Given the description of an element on the screen output the (x, y) to click on. 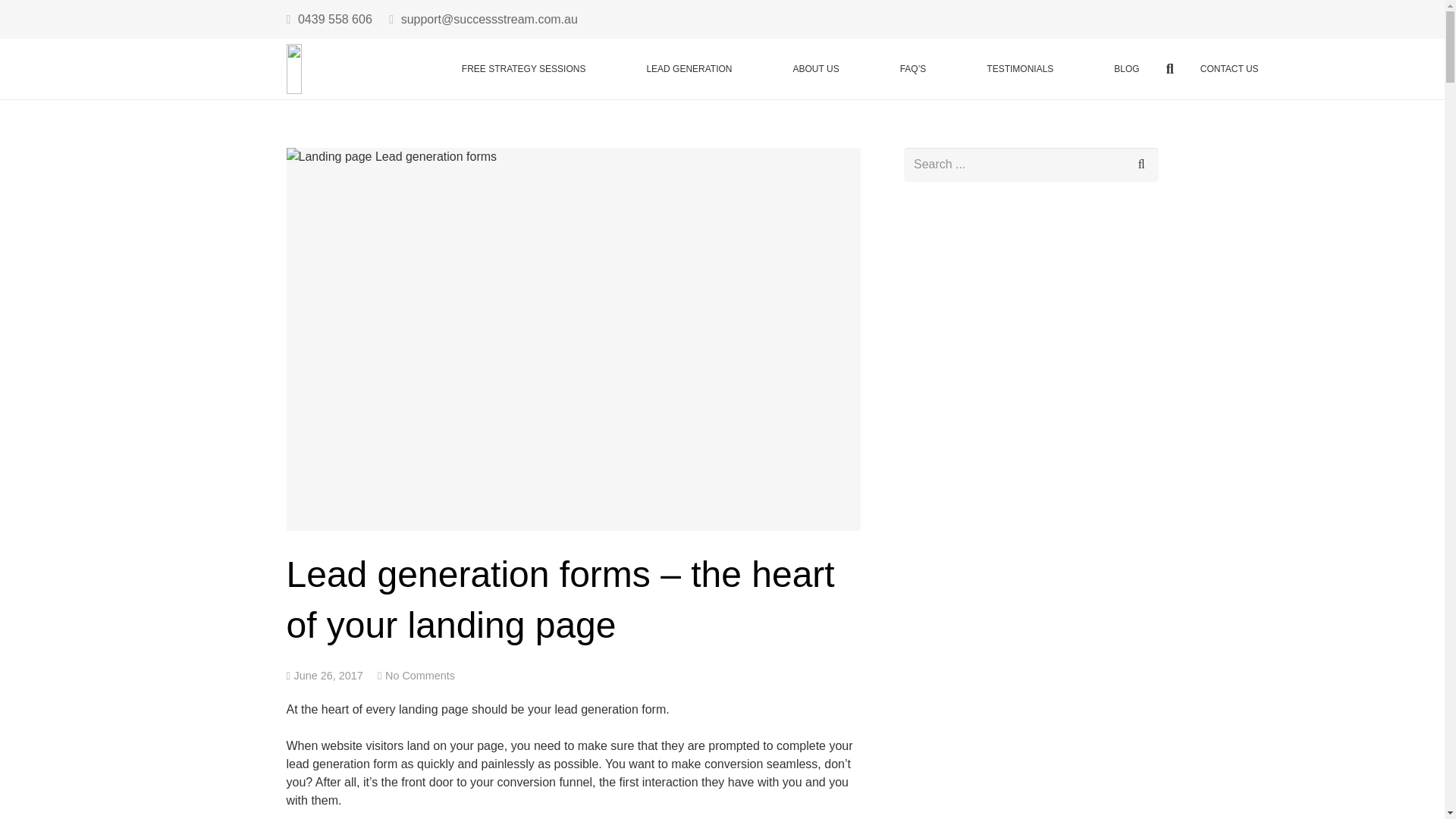
CONTACT US (1229, 68)
LEAD GENERATION (688, 68)
No Comments (419, 675)
BLOG (1126, 68)
ABOUT US (815, 68)
TESTIMONIALS (1019, 68)
FREE STRATEGY SESSIONS (522, 68)
